Given the description of an element on the screen output the (x, y) to click on. 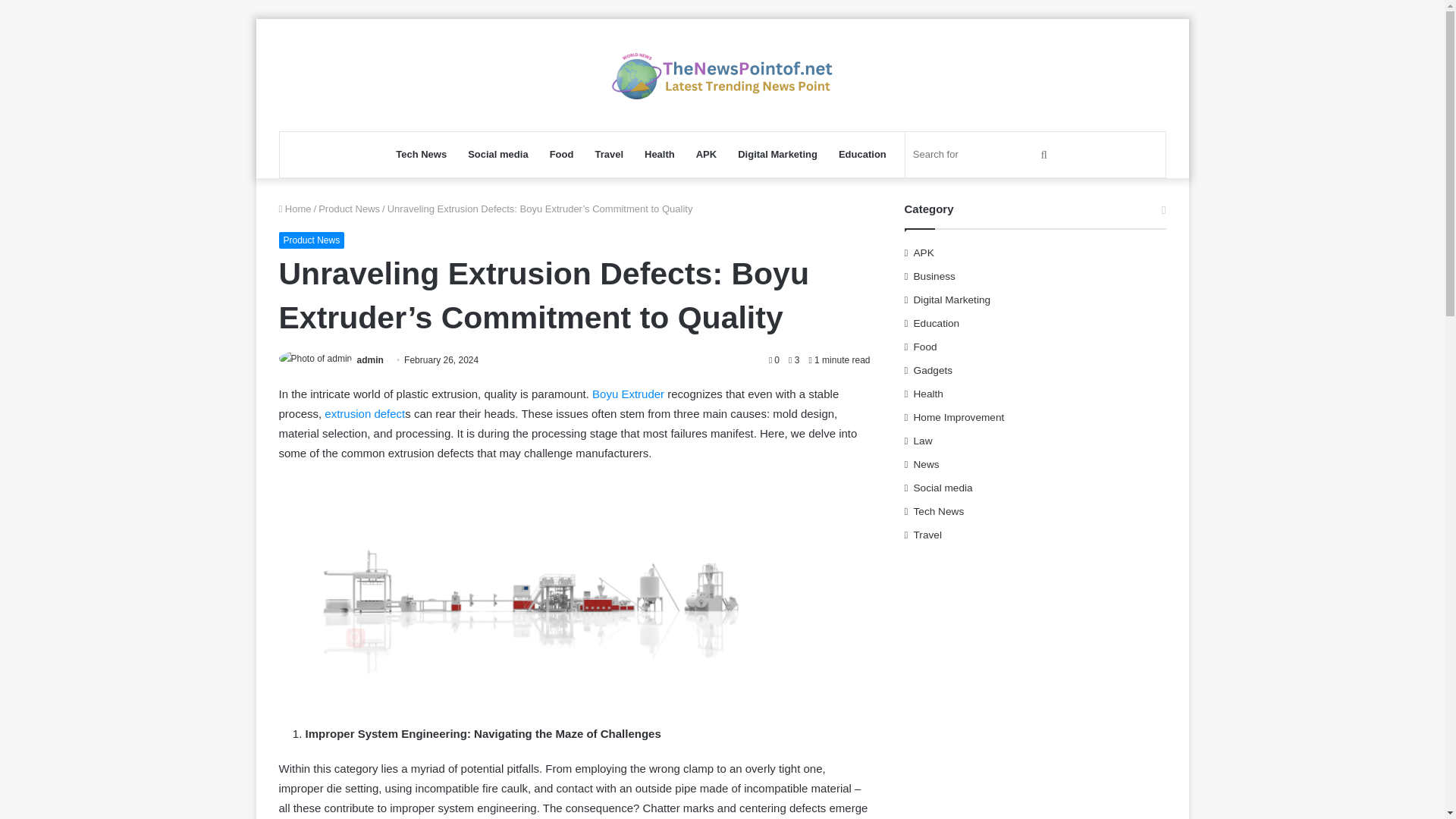
Social media (497, 154)
Product News (312, 239)
Travel (608, 154)
Boyu Extruder (627, 393)
Tech News (421, 154)
Food (561, 154)
Health (659, 154)
Education (862, 154)
admin (370, 359)
admin (370, 359)
